Given the description of an element on the screen output the (x, y) to click on. 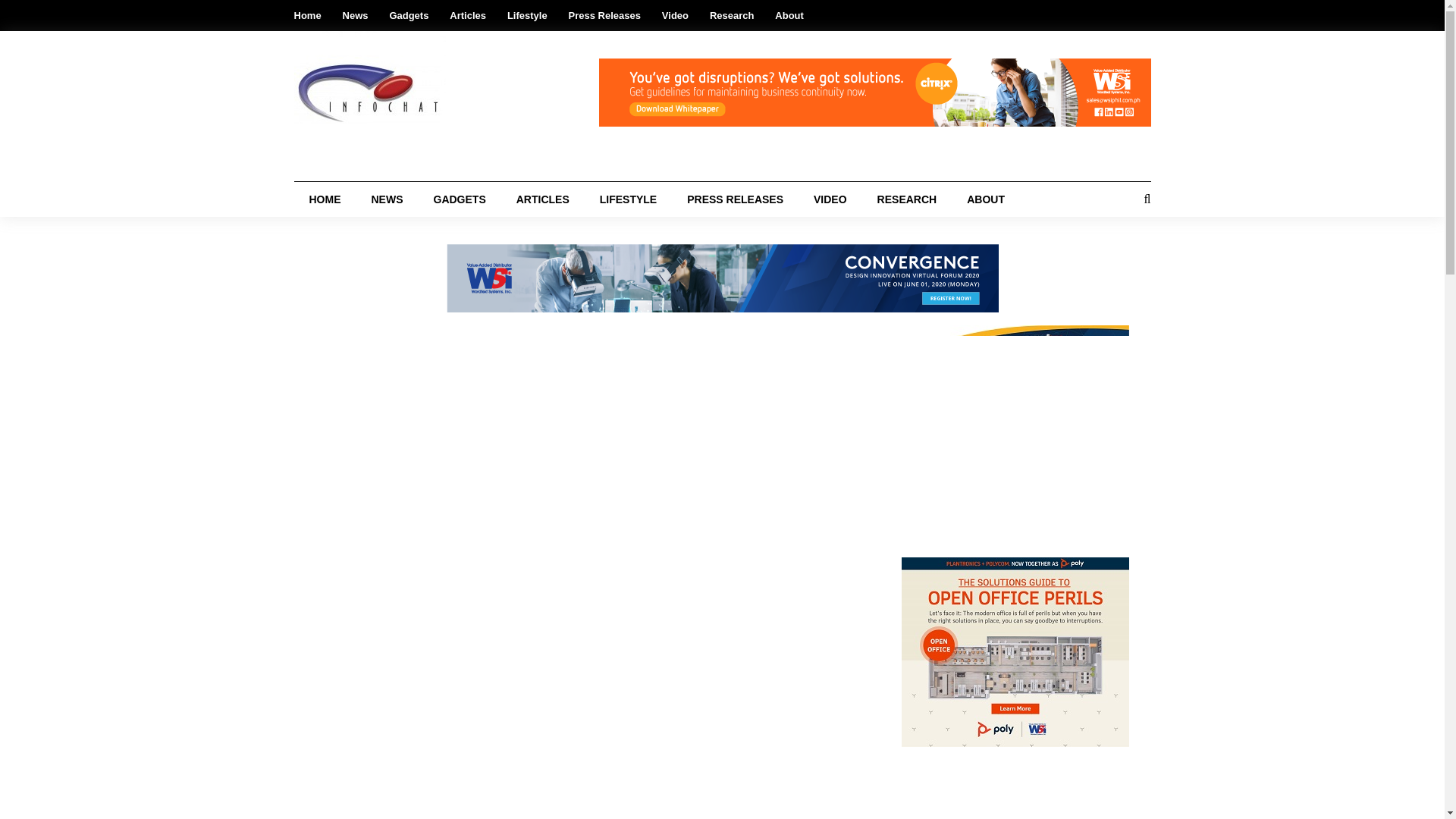
RESEARCH (906, 199)
Research (732, 15)
Press Releases (604, 15)
ABOUT (986, 199)
GADGETS (459, 199)
ARTICLES (542, 199)
HOME (325, 199)
LIFESTYLE (628, 199)
Articles (467, 15)
About (788, 15)
